Given the description of an element on the screen output the (x, y) to click on. 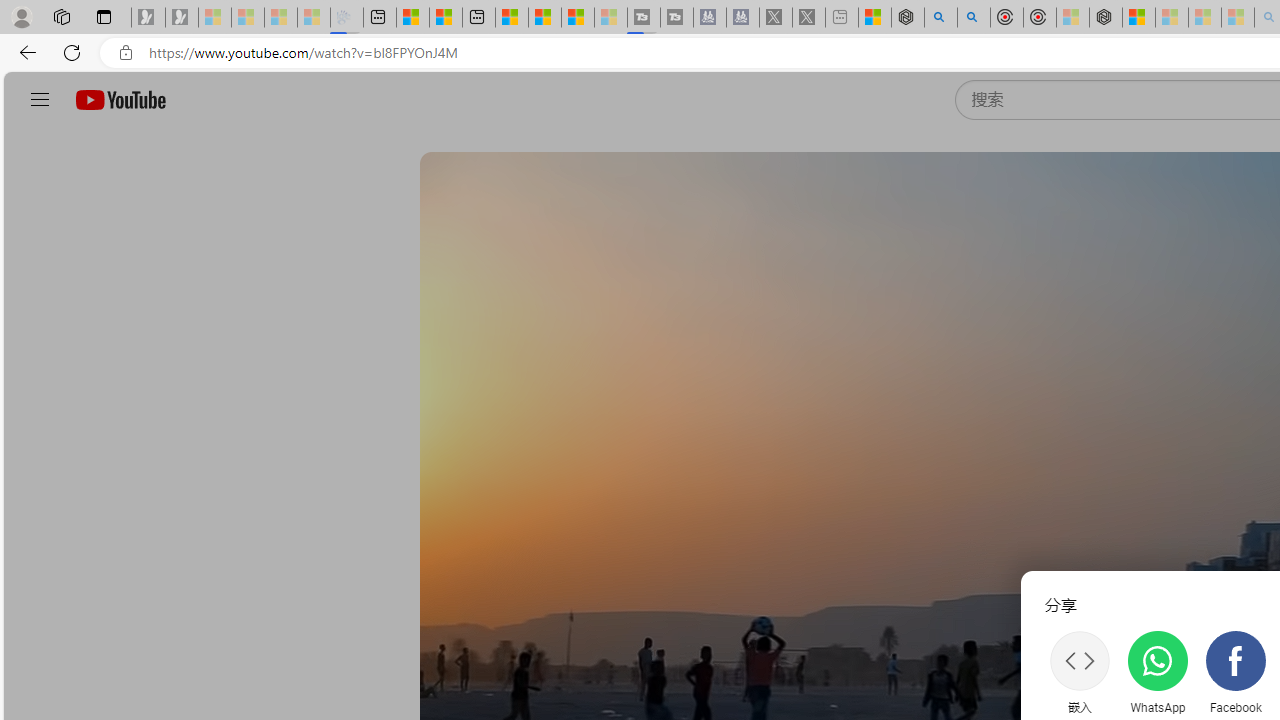
poe ++ standard - Search (973, 17)
